Given the description of an element on the screen output the (x, y) to click on. 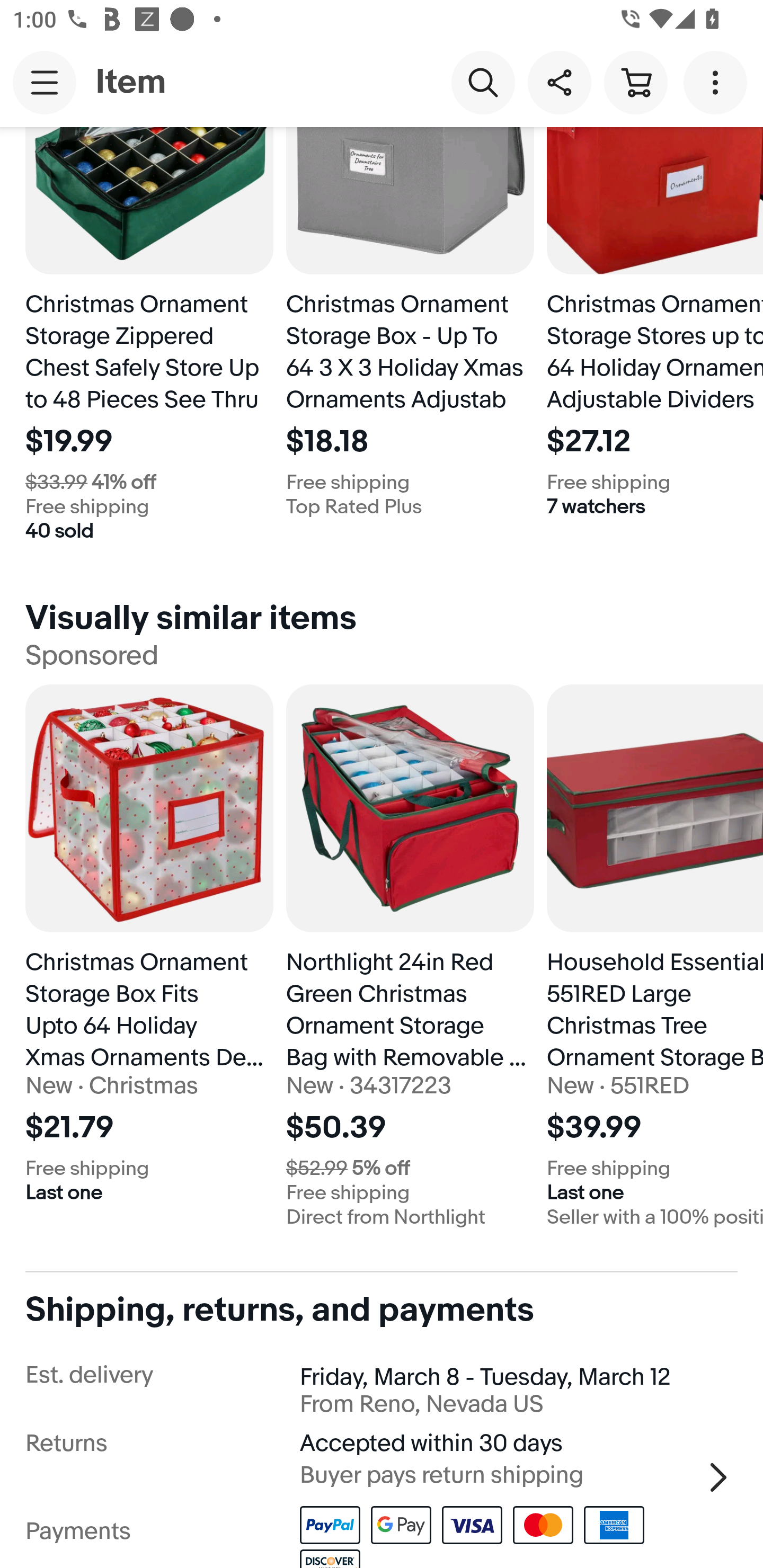
Main navigation, open (44, 82)
Search (482, 81)
Share this item (559, 81)
Cart button shopping cart (635, 81)
More options (718, 81)
